Given the description of an element on the screen output the (x, y) to click on. 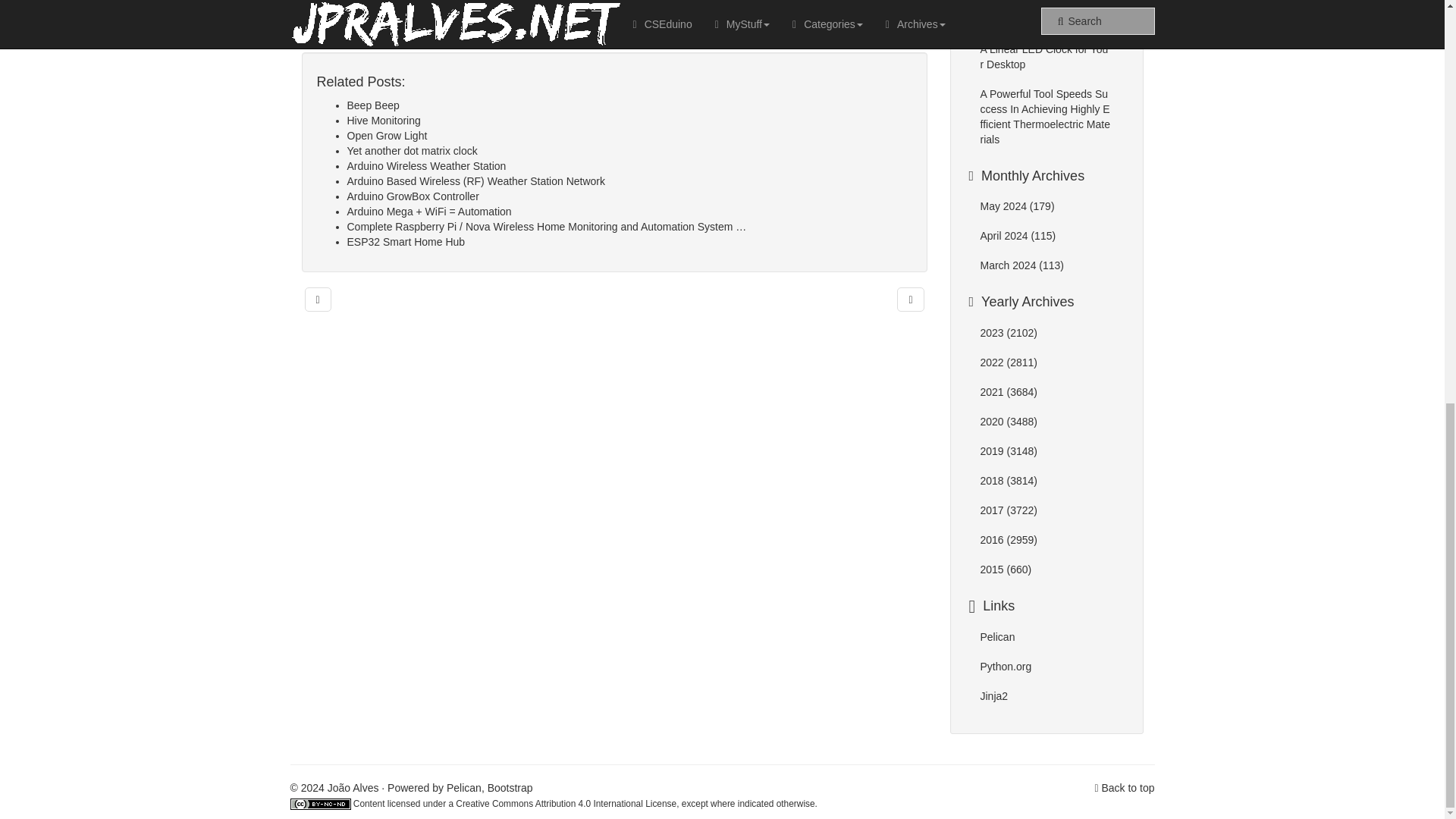
Link for Pelican (996, 636)
Link for Jinja2 (993, 695)
Link to article (334, 36)
Link for Python.org (1004, 666)
